Given the description of an element on the screen output the (x, y) to click on. 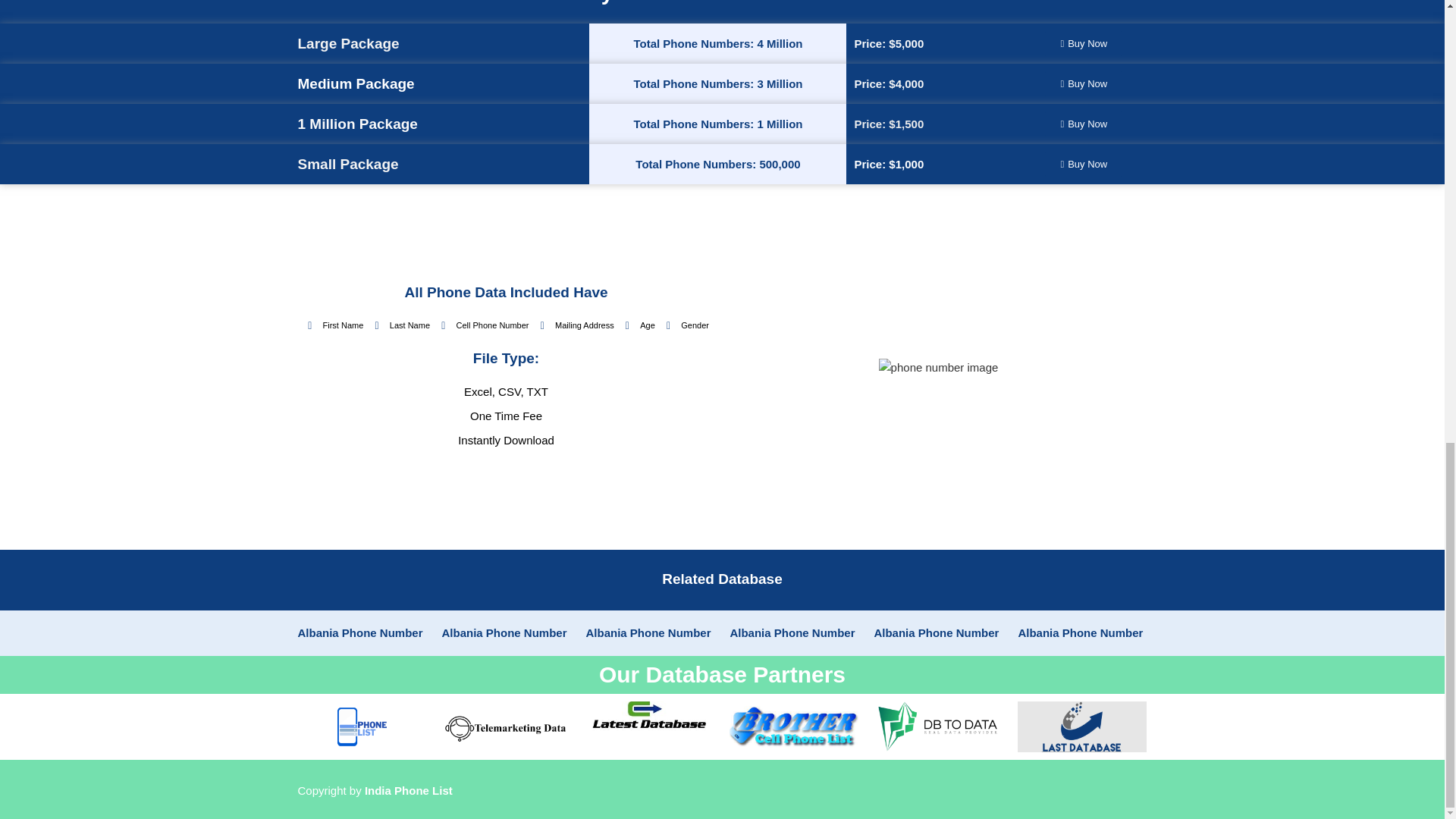
Buy Now (1083, 163)
Albania Phone Number (359, 632)
Buy Now (1083, 43)
India Phone List (408, 789)
Albania Phone Number (503, 632)
Albania Phone Number (935, 632)
Albania Phone Number (791, 632)
Albania Phone Number (1079, 632)
Albania Phone Number (647, 632)
Buy Now (1083, 123)
